Given the description of an element on the screen output the (x, y) to click on. 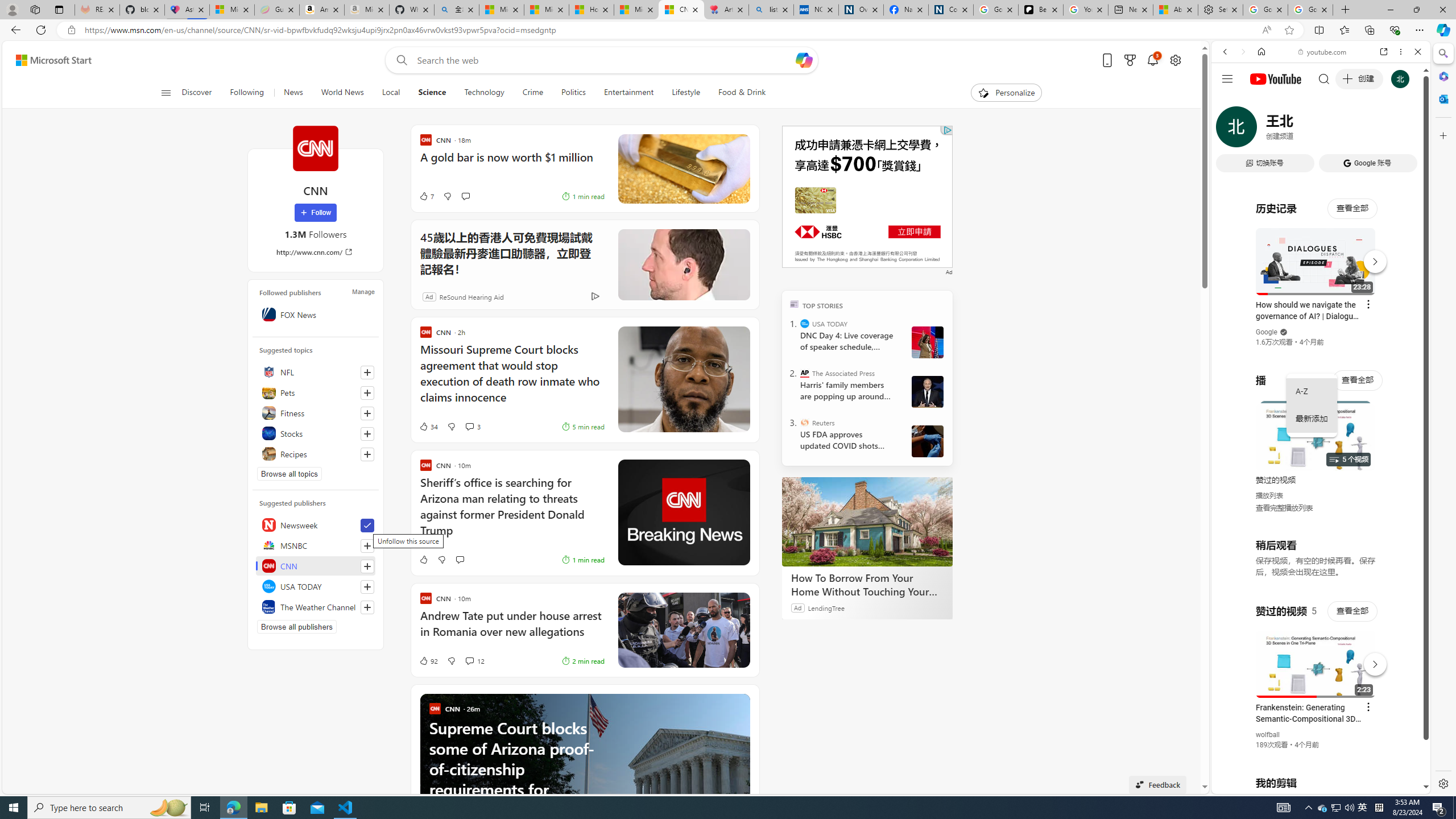
View comments 12 Comment (469, 660)
Search Filter, WEB (1230, 129)
Skip to footer (46, 59)
Class: b_serphb (1404, 130)
WEB   (1230, 130)
Open settings (1175, 60)
